Given the description of an element on the screen output the (x, y) to click on. 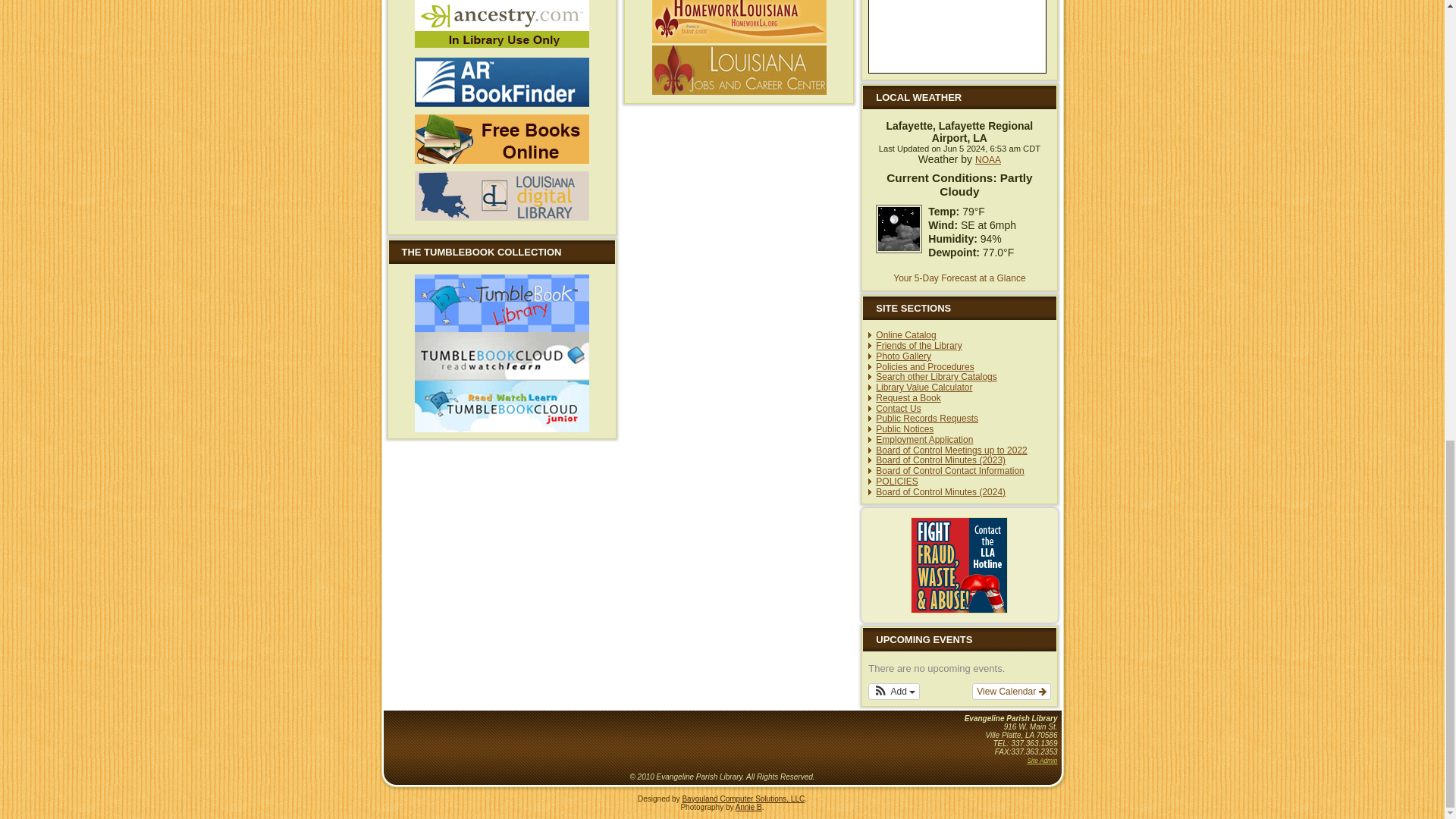
NOAA's National Weather Service (988, 159)
